Given the description of an element on the screen output the (x, y) to click on. 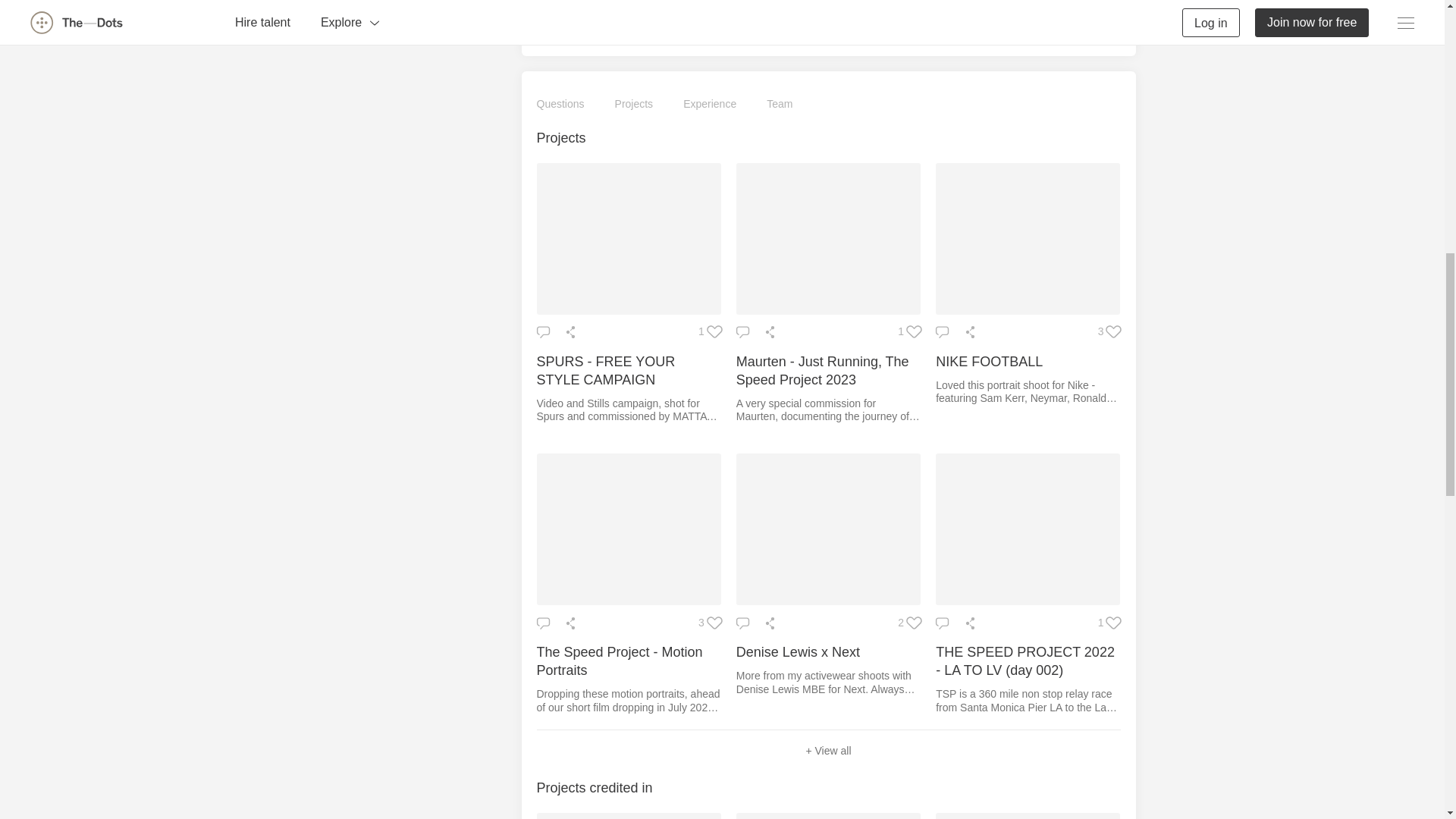
Team (779, 104)
Experience (709, 104)
Projects (633, 104)
Questions (561, 104)
